Given the description of an element on the screen output the (x, y) to click on. 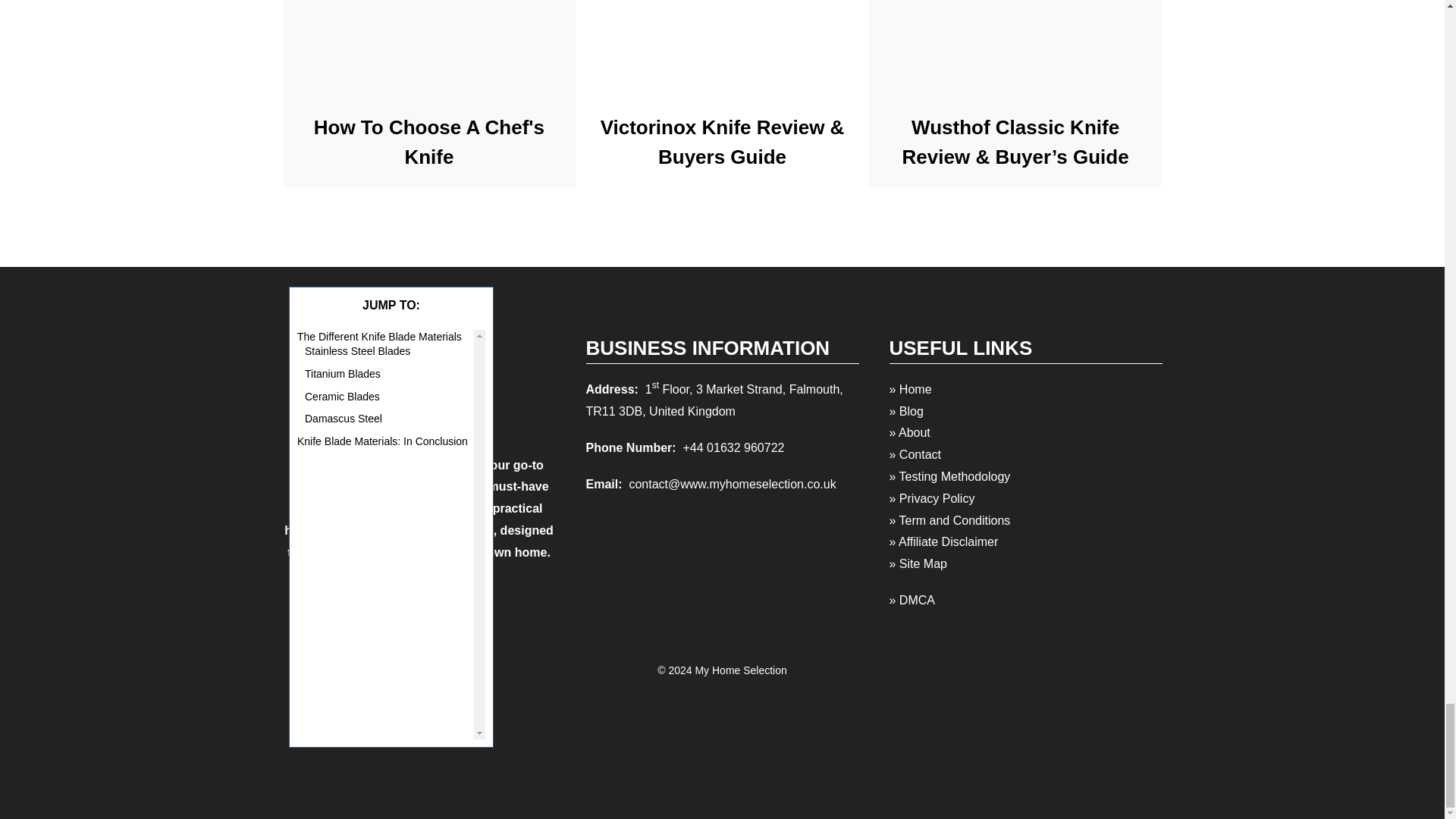
Content Protection by DMCA.com (721, 789)
